Given the description of an element on the screen output the (x, y) to click on. 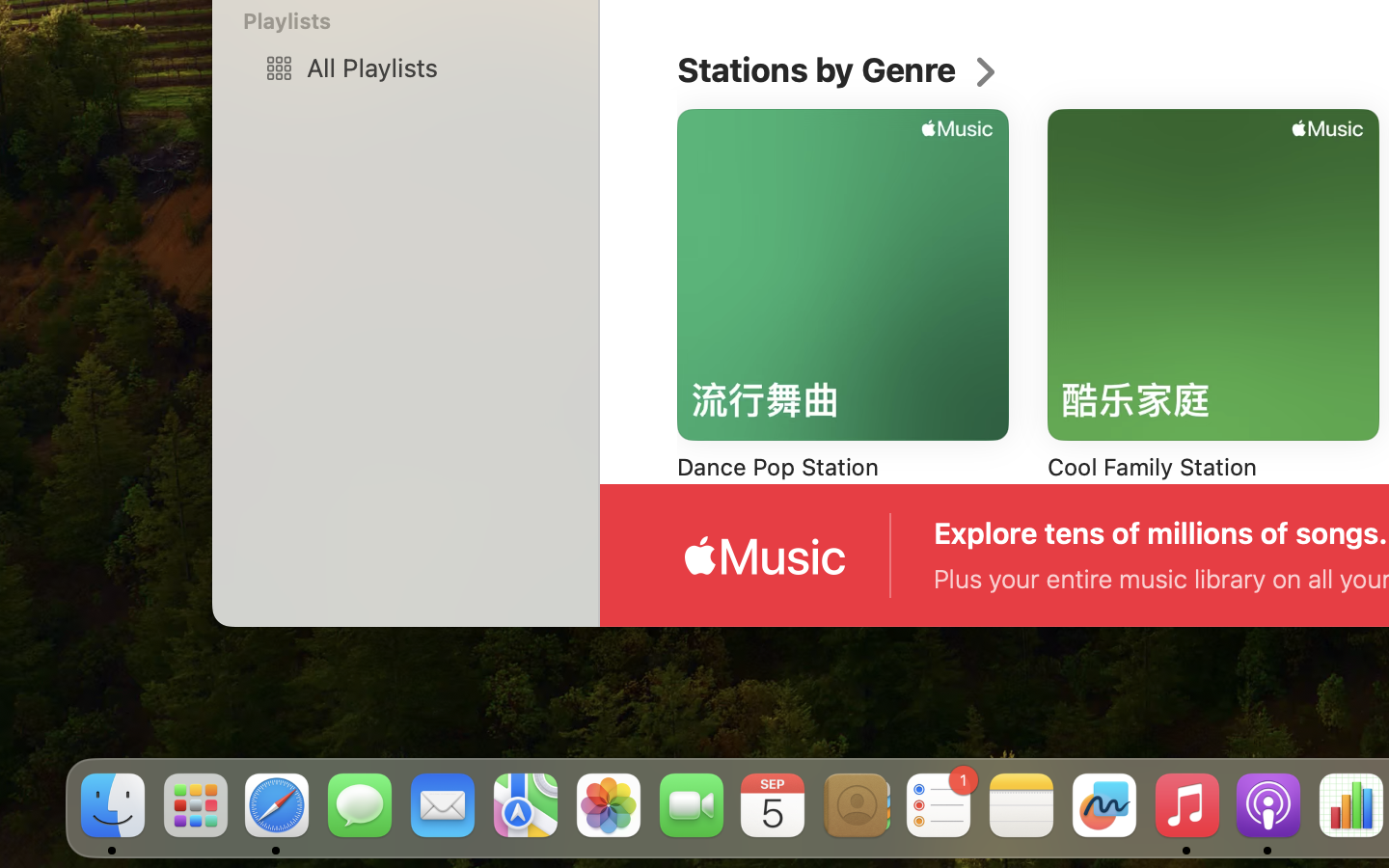
Playlists Element type: AXStaticText (416, 20)
All Playlists Element type: AXStaticText (434, 67)
